Given the description of an element on the screen output the (x, y) to click on. 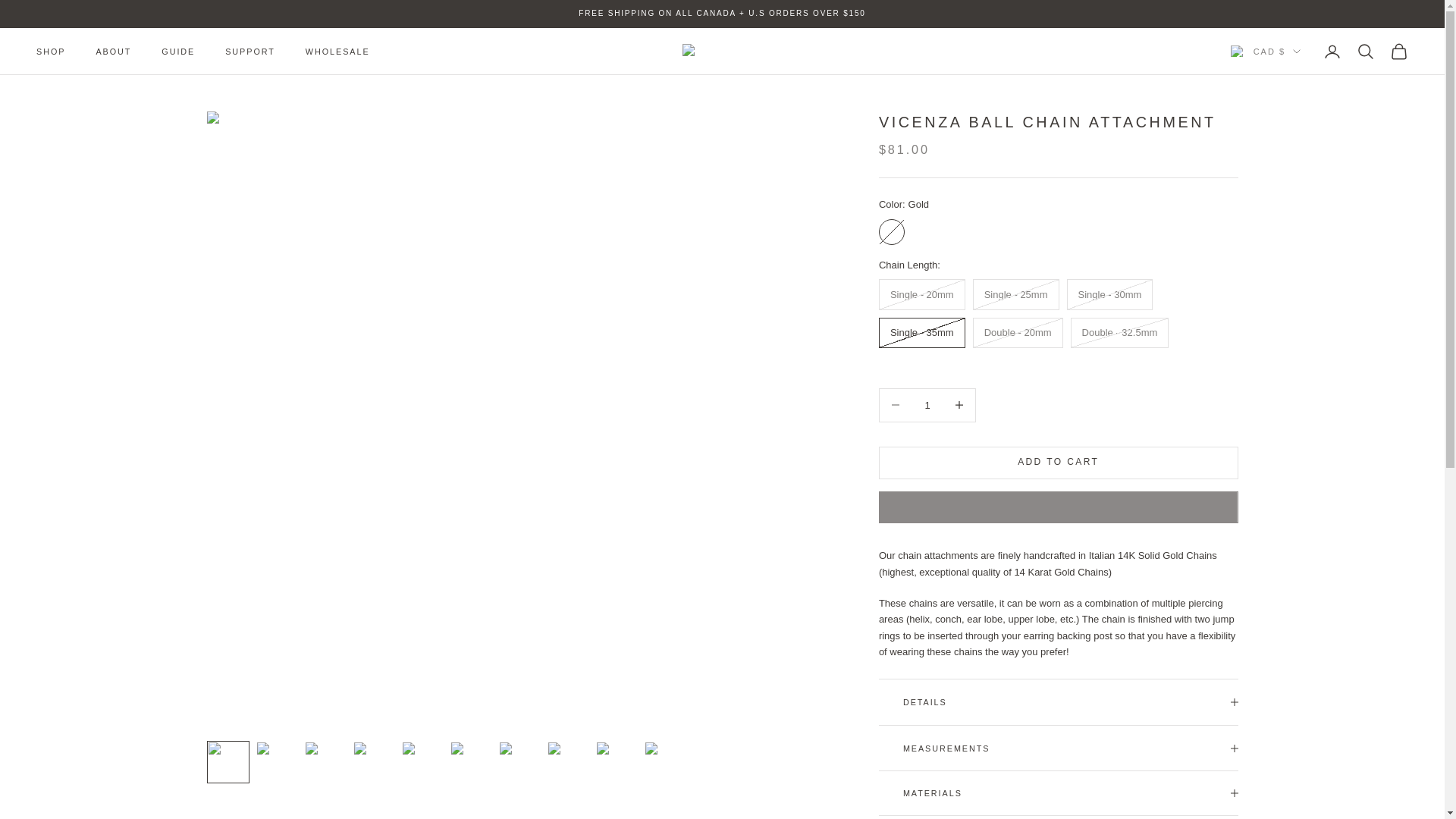
1 (927, 405)
BEATTI (721, 51)
